Given the description of an element on the screen output the (x, y) to click on. 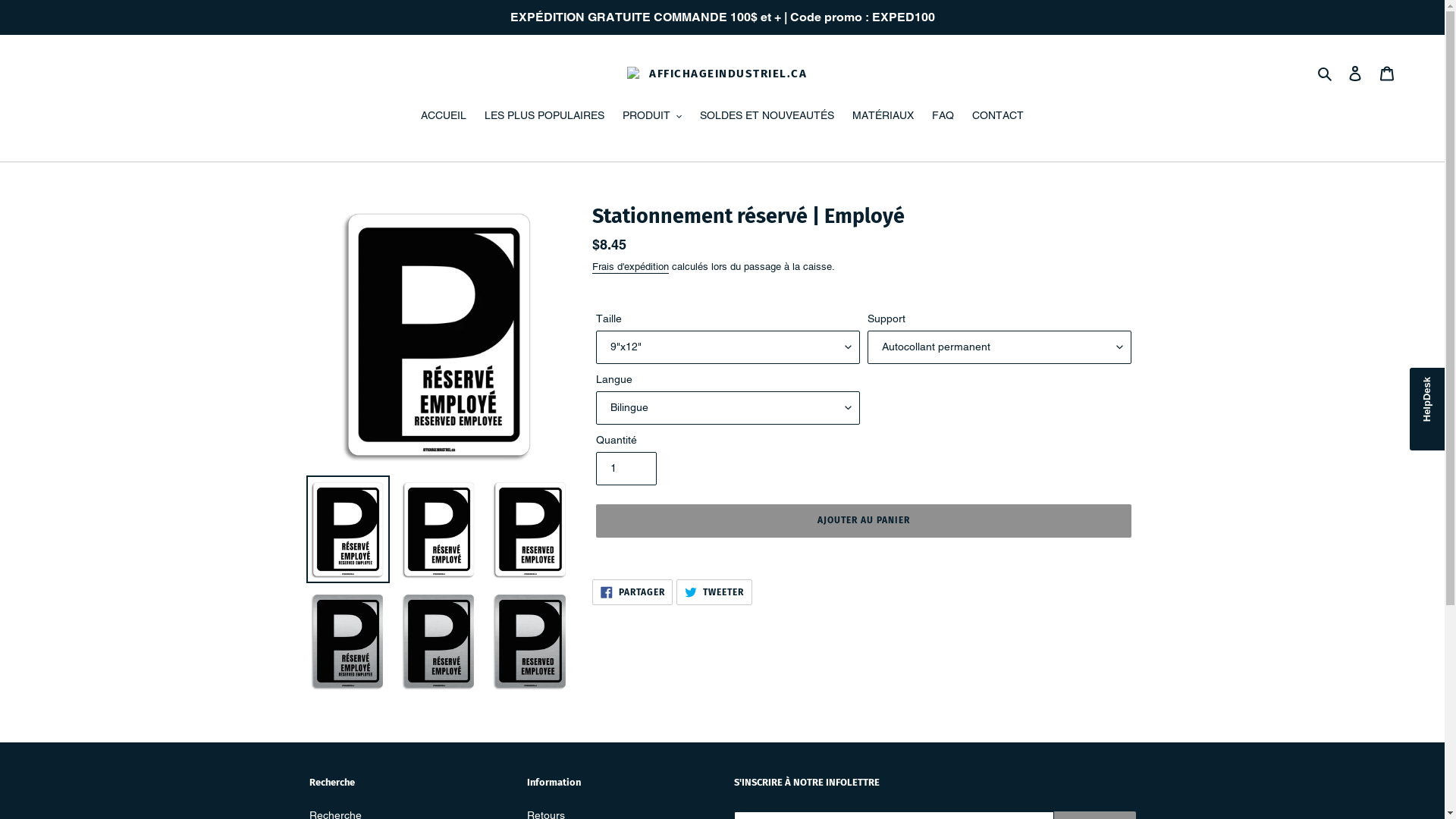
Panier Element type: text (1386, 72)
ACCUEIL Element type: text (443, 116)
FAQ Element type: text (942, 116)
Se connecter Element type: text (1355, 72)
AJOUTER AU PANIER Element type: text (864, 520)
PRODUIT Element type: text (652, 116)
Rechercher Element type: text (1325, 72)
CONTACT Element type: text (997, 116)
LES PLUS POPULAIRES Element type: text (543, 116)
TWEETER
TWEETER SUR TWITTER Element type: text (714, 592)
PARTAGER
PARTAGER SUR FACEBOOK Element type: text (632, 592)
